Given the description of an element on the screen output the (x, y) to click on. 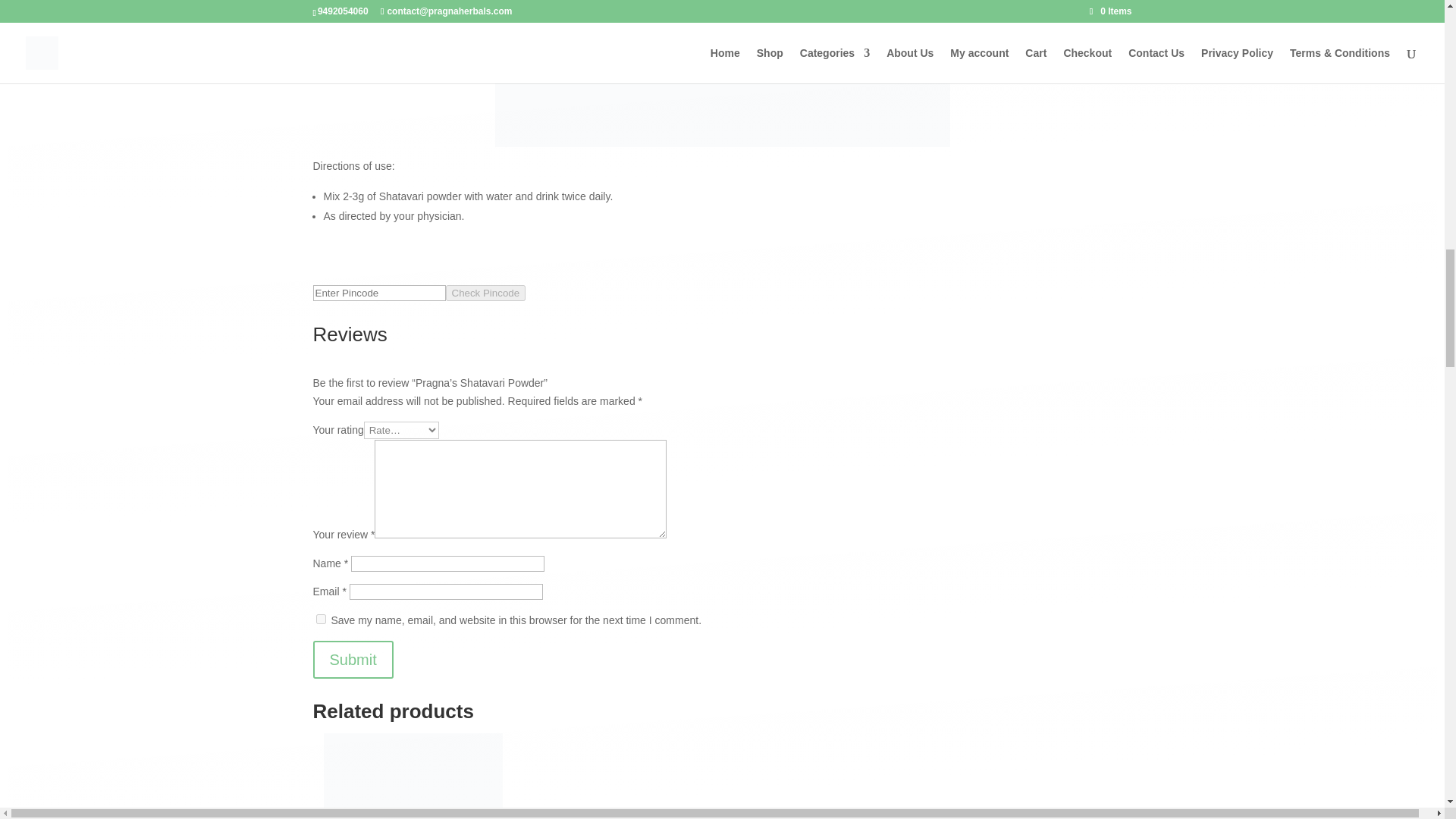
yes (319, 619)
Submit (353, 659)
Check Pincode (485, 293)
